Given the description of an element on the screen output the (x, y) to click on. 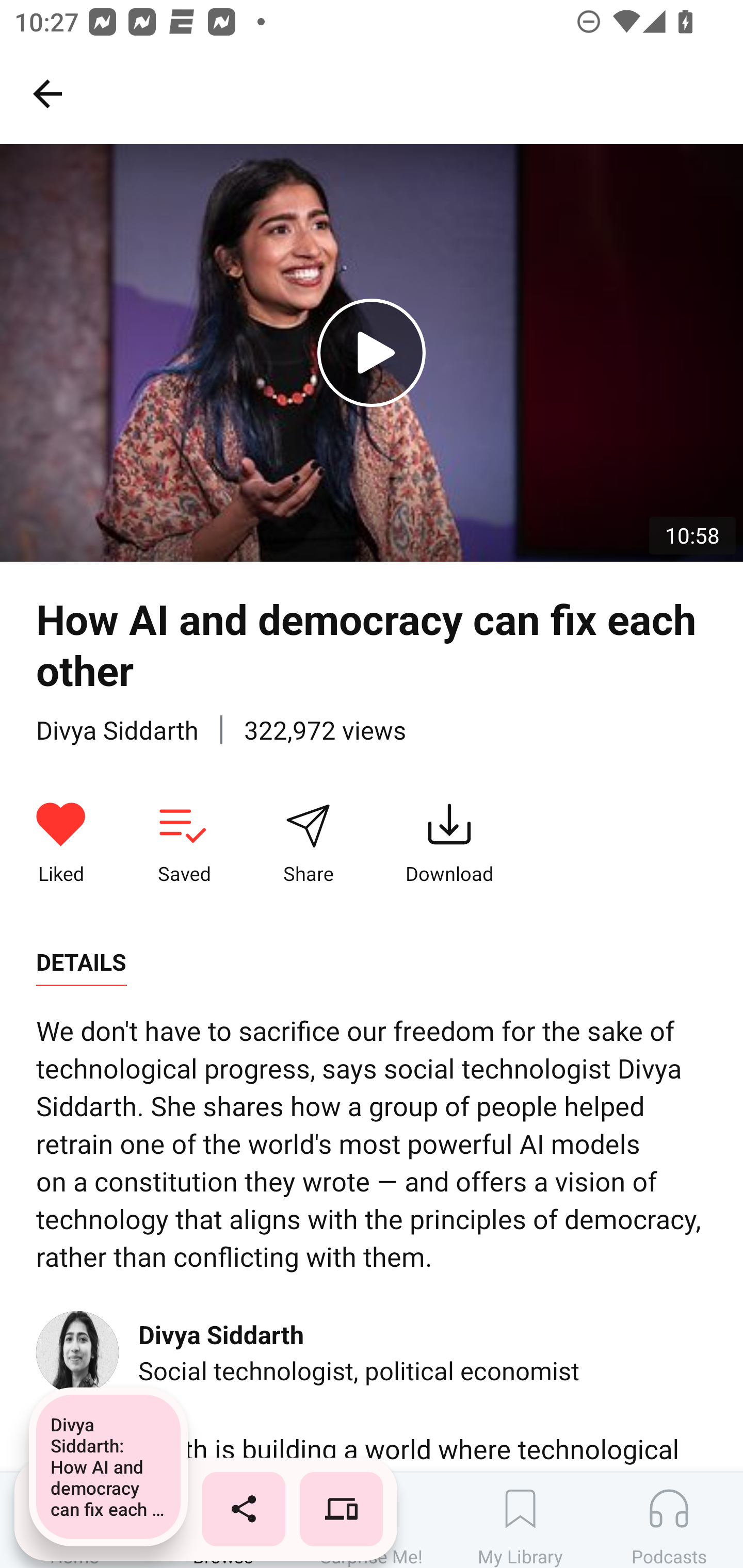
Search, back (47, 92)
Liked (60, 843)
Saved (183, 843)
Share (308, 843)
Download (449, 843)
DETAILS (80, 962)
My Library (519, 1520)
Podcasts (668, 1520)
